Given the description of an element on the screen output the (x, y) to click on. 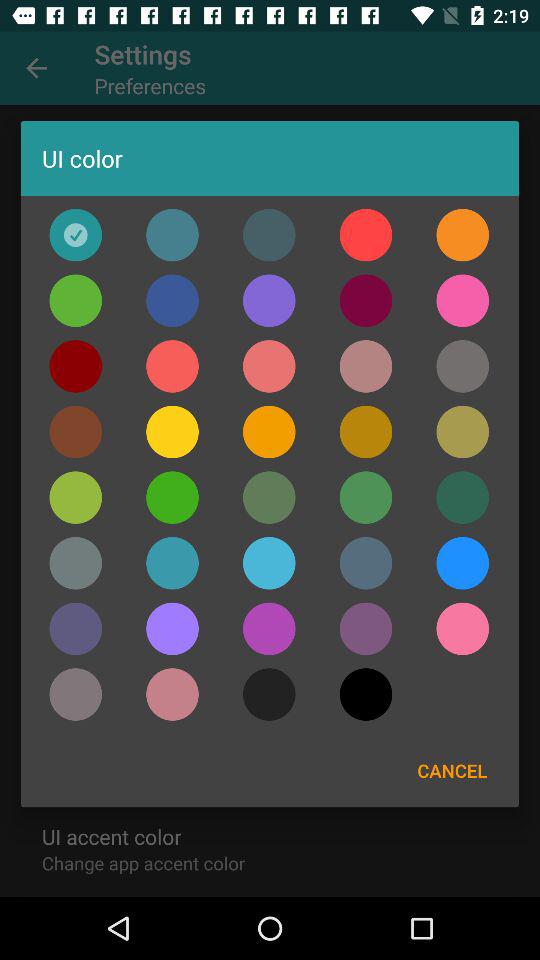
select blue (269, 563)
